Given the description of an element on the screen output the (x, y) to click on. 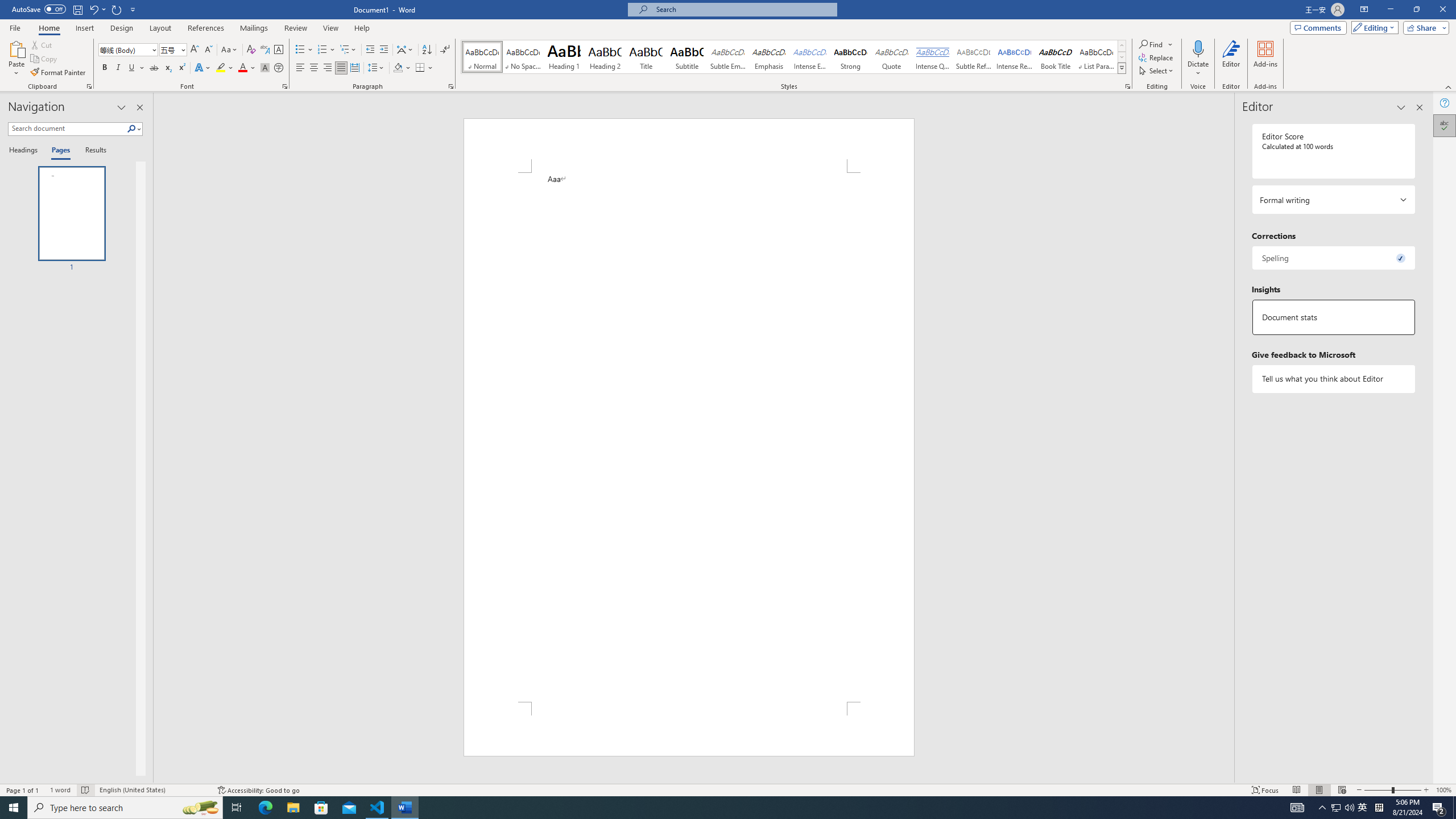
Intense Reference (1014, 56)
